Given the description of an element on the screen output the (x, y) to click on. 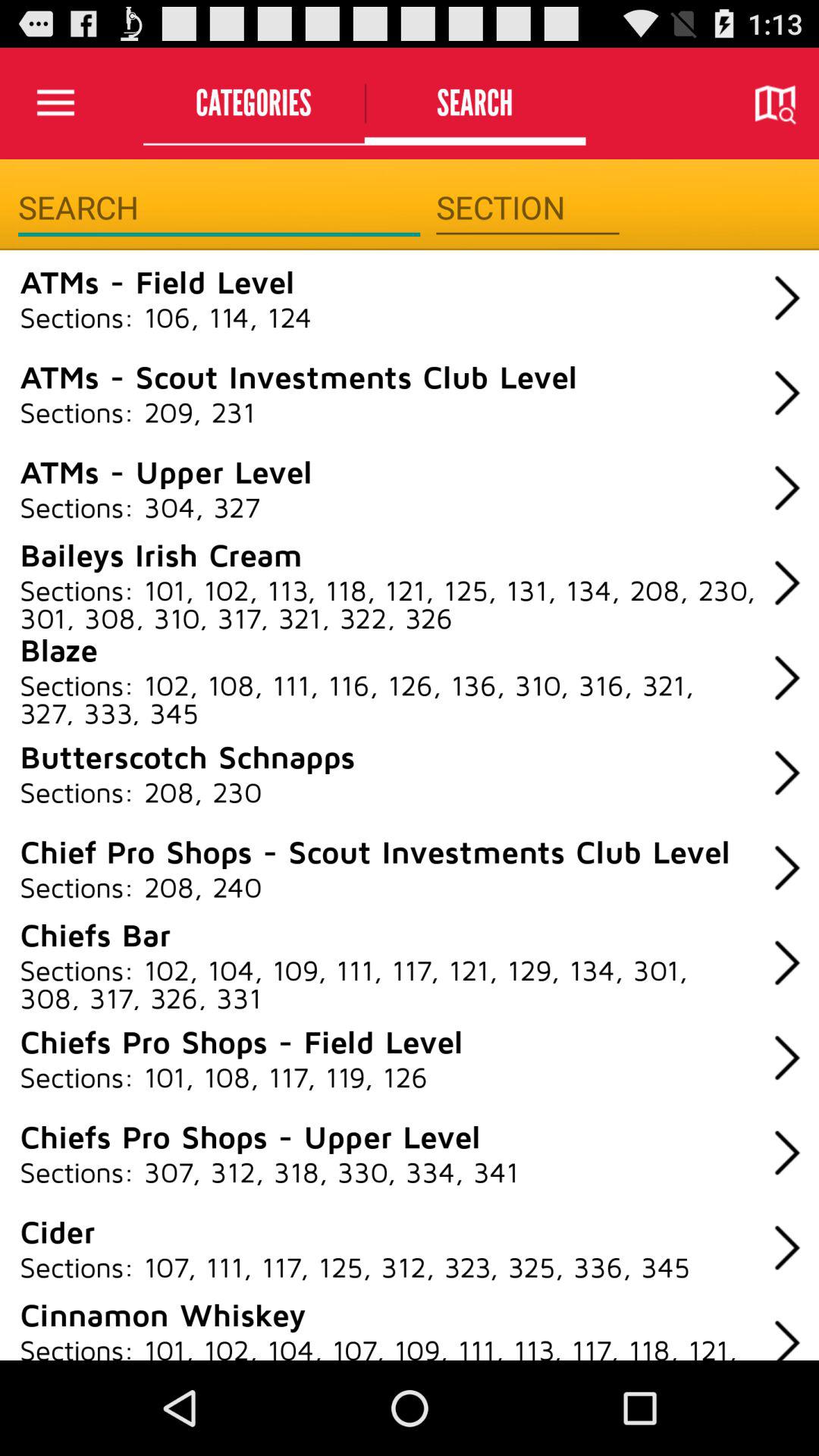
select the icon above the sections 102 104 (94, 934)
